Given the description of an element on the screen output the (x, y) to click on. 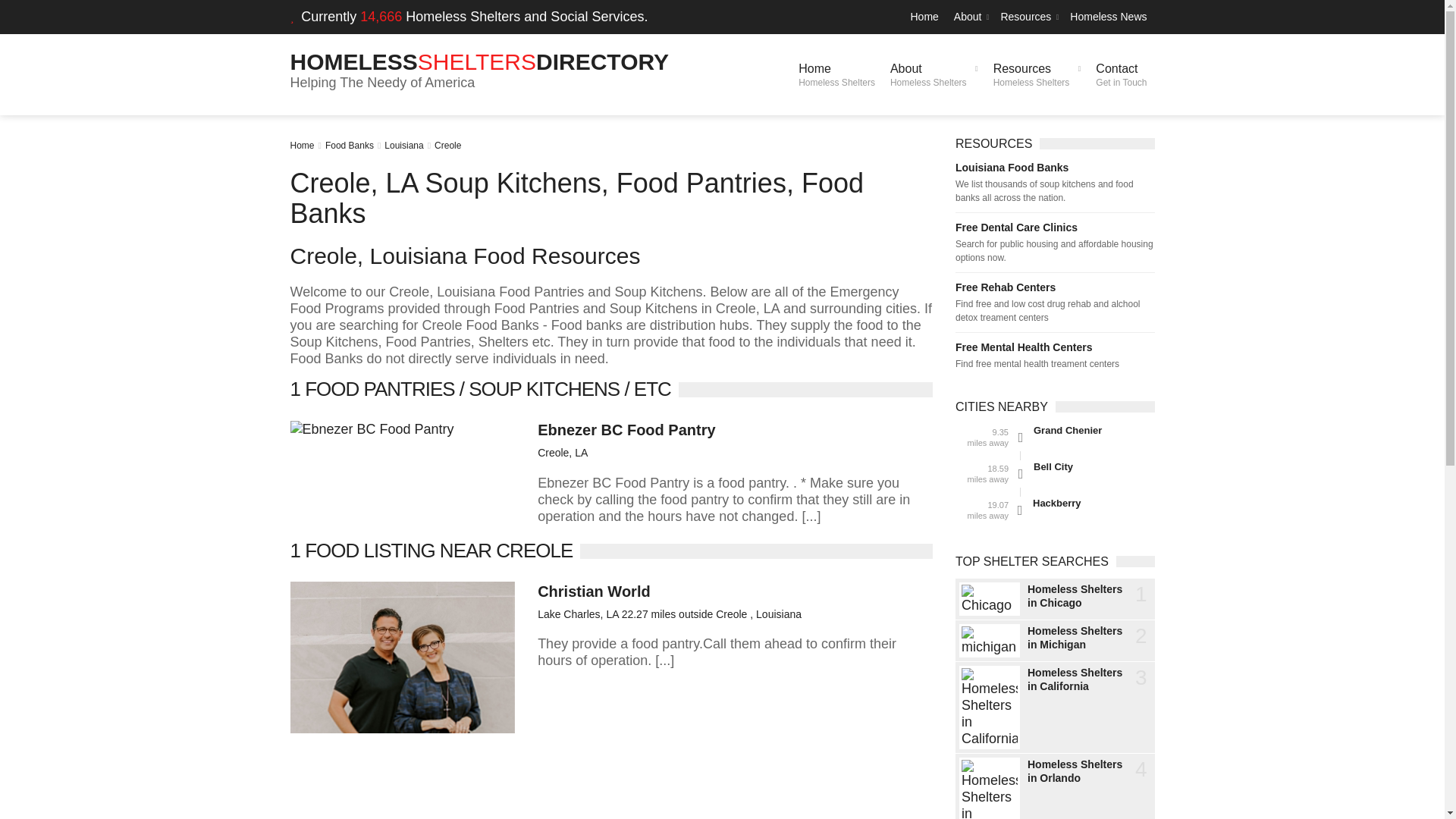
HOMELESSSHELTERSDIRECTORY (478, 61)
About (1037, 74)
Food Banks (969, 17)
Louisiana (349, 145)
Christian World (403, 145)
Home (593, 591)
Free Rehab Centers (1120, 74)
Ebnezer BC Food Pantry (923, 17)
Home (836, 74)
Homeless News (1054, 287)
Creole (625, 429)
